Given the description of an element on the screen output the (x, y) to click on. 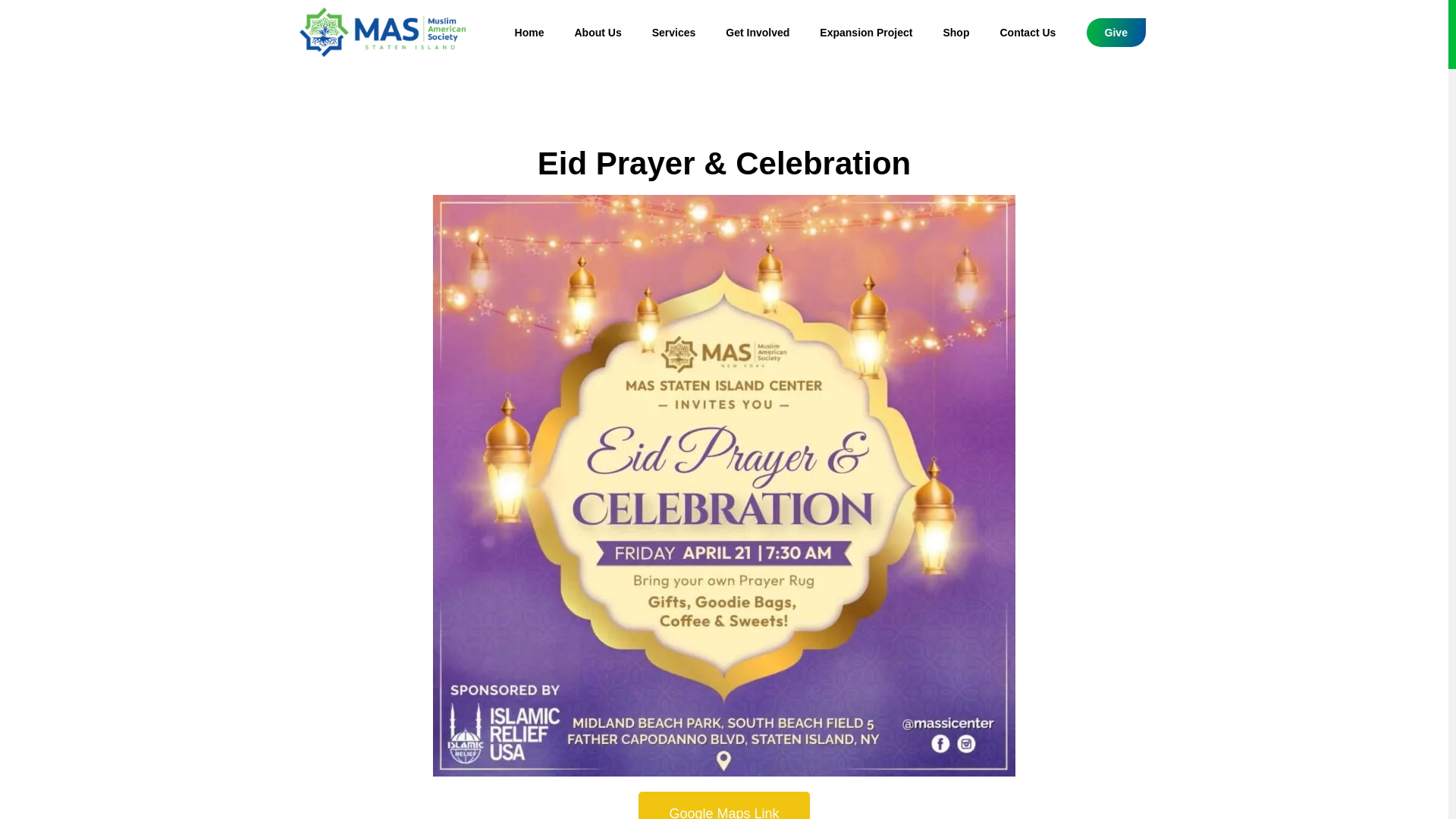
Shop (955, 32)
Home (529, 32)
Expansion Project (866, 32)
Services (674, 32)
Contact Us (1027, 32)
About Us (597, 32)
Get Involved (757, 32)
